Given the description of an element on the screen output the (x, y) to click on. 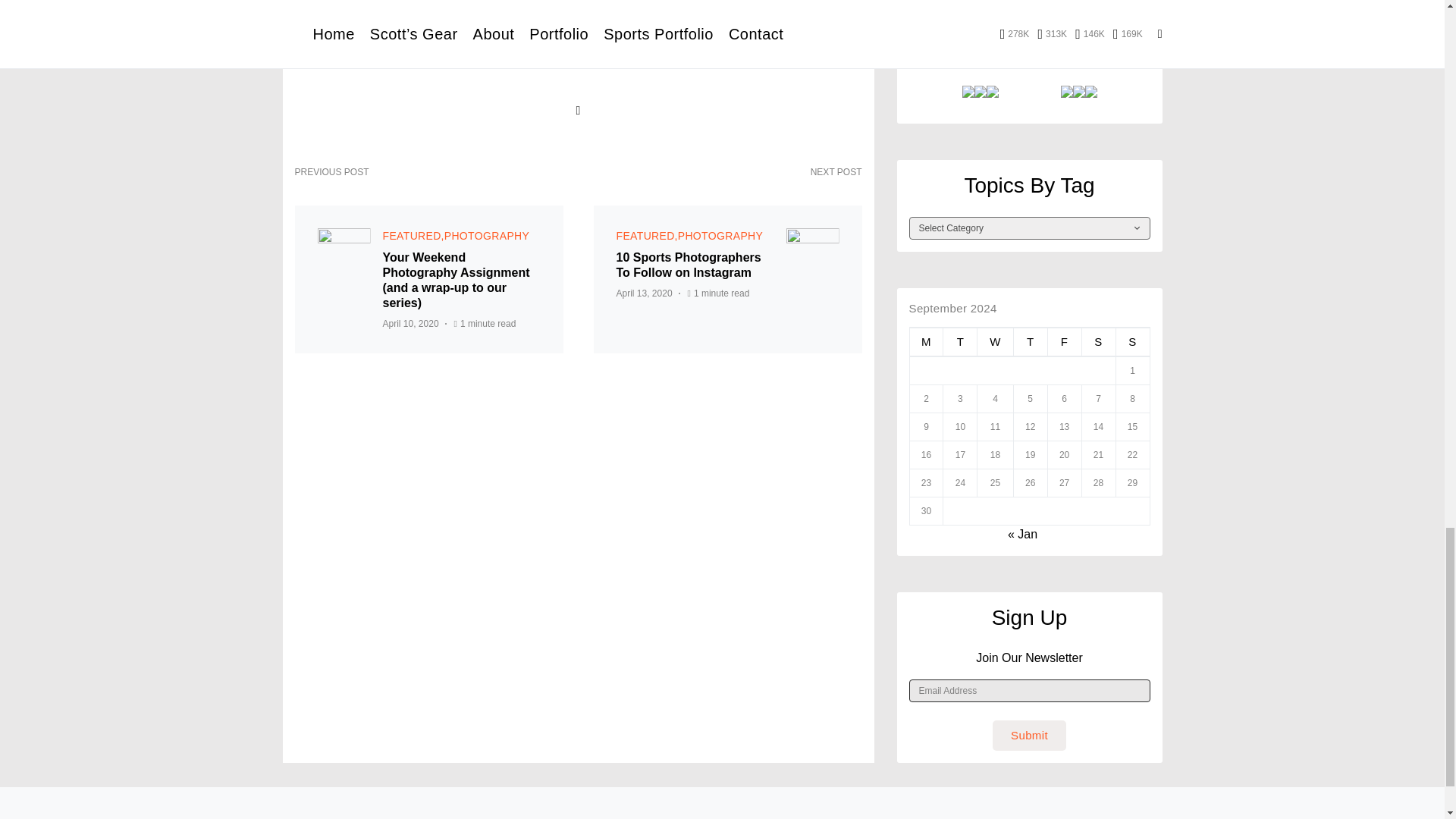
Tuesday (959, 341)
Saturday (1098, 341)
Friday (1063, 341)
Wednesday (994, 341)
Thursday (1029, 341)
Monday (925, 341)
Sunday (1132, 341)
Submit (1028, 735)
